Given the description of an element on the screen output the (x, y) to click on. 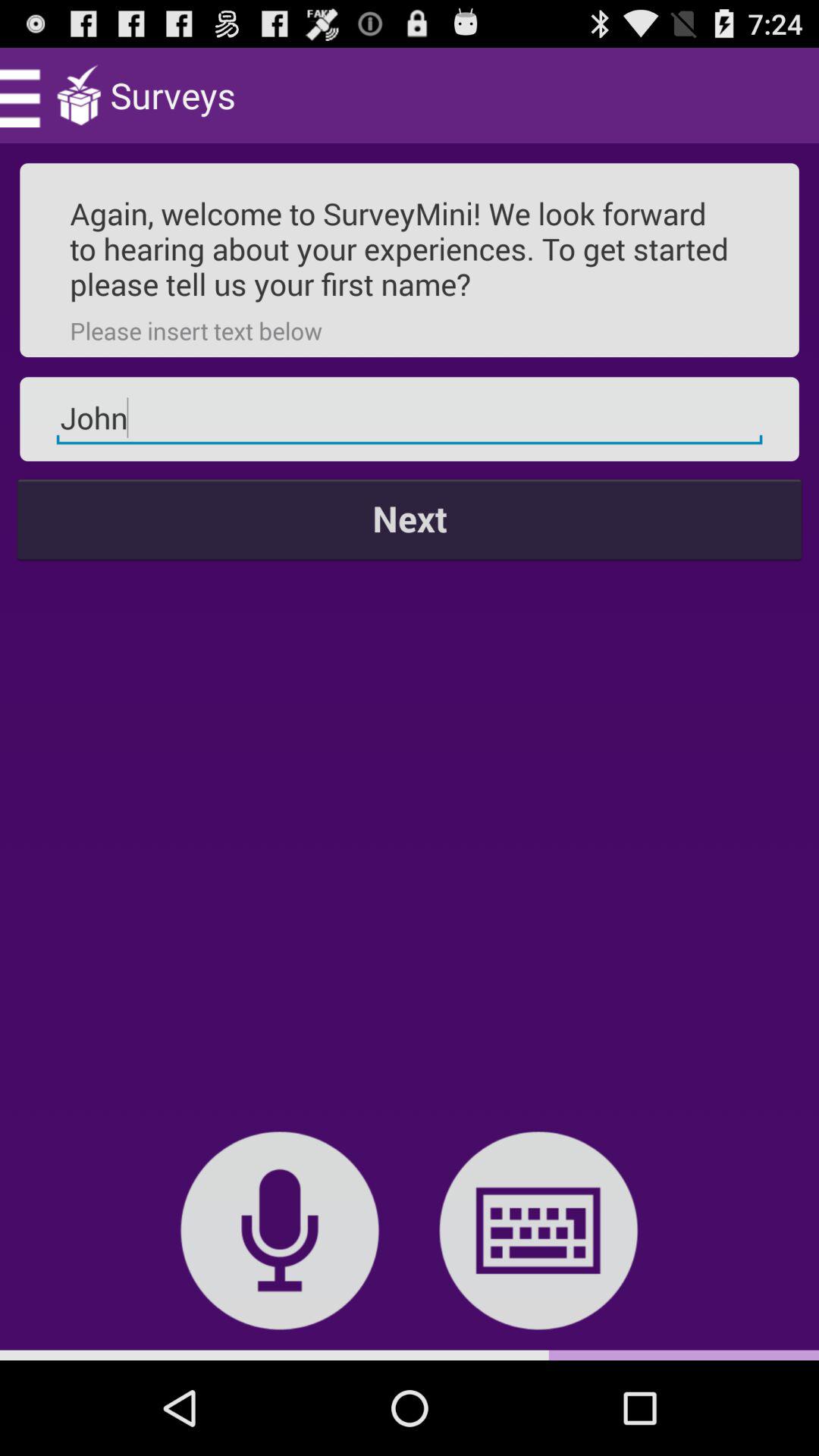
press icon below the next icon (279, 1230)
